Given the description of an element on the screen output the (x, y) to click on. 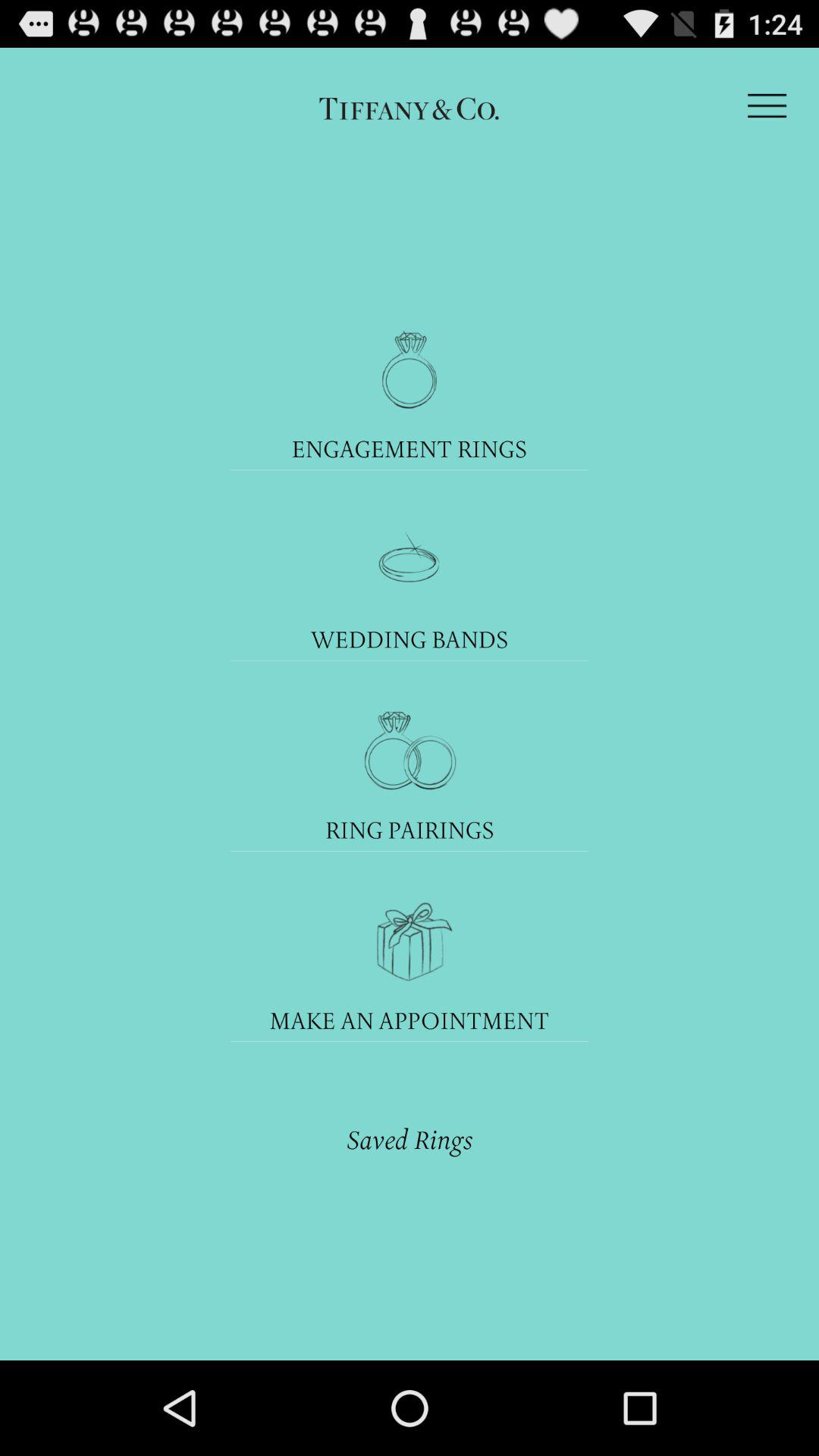
launch item above the ring pairings (409, 750)
